Given the description of an element on the screen output the (x, y) to click on. 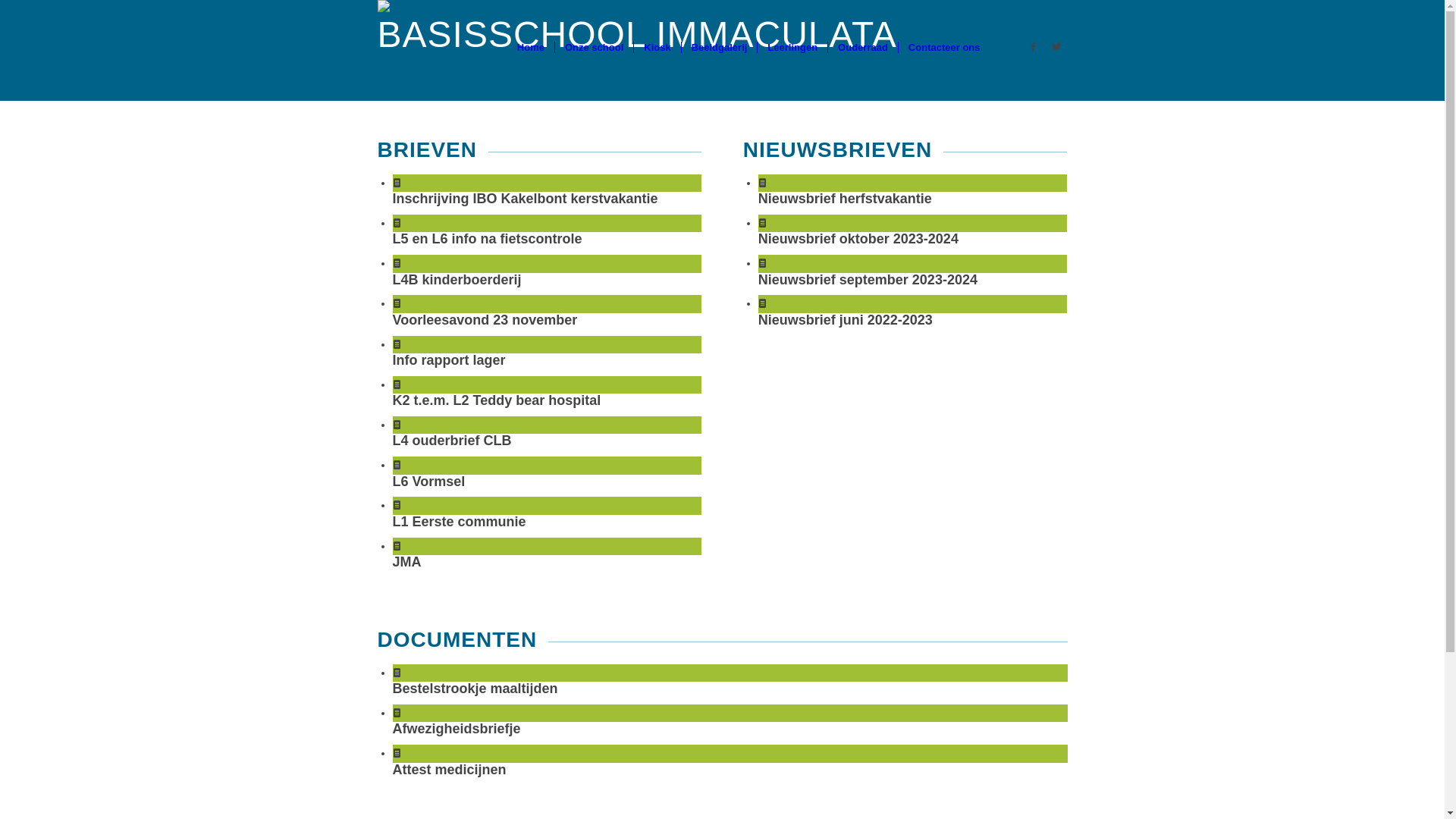
Ouderraad Element type: text (862, 47)
L4 ouderbrief CLB Element type: text (451, 440)
Nieuwsbrief herfstvakantie Element type: text (844, 198)
Nieuwsbrief oktober 2023-2024 Element type: text (858, 238)
Twitter Element type: hover (1055, 45)
Leerlingen Element type: text (791, 47)
K2 t.e.m. L2 Teddy bear hospital Element type: text (496, 399)
Onze school Element type: text (593, 47)
Afwezigheidsbriefje Element type: text (456, 728)
Bestelstrookje maaltijden Element type: text (475, 688)
Kiosk Element type: text (656, 47)
L5 en L6 info na fietscontrole Element type: text (487, 238)
JMA Element type: text (406, 561)
Contacteer ons Element type: text (943, 47)
L1 Eerste communie Element type: text (459, 521)
Home Element type: text (530, 47)
Attest medicijnen Element type: text (449, 769)
Nieuwsbrief september 2023-2024 Element type: text (867, 278)
Beeldgalerij Element type: text (718, 47)
Voorleesavond 23 november Element type: text (484, 319)
L4B kinderboerderij Element type: text (456, 278)
Facebook Element type: hover (1033, 45)
Inschrijving IBO Kakelbont kerstvakantie Element type: text (525, 198)
Nieuwsbrief juni 2022-2023 Element type: text (845, 319)
L6 Vormsel Element type: text (428, 481)
Info rapport lager Element type: text (448, 359)
